Given the description of an element on the screen output the (x, y) to click on. 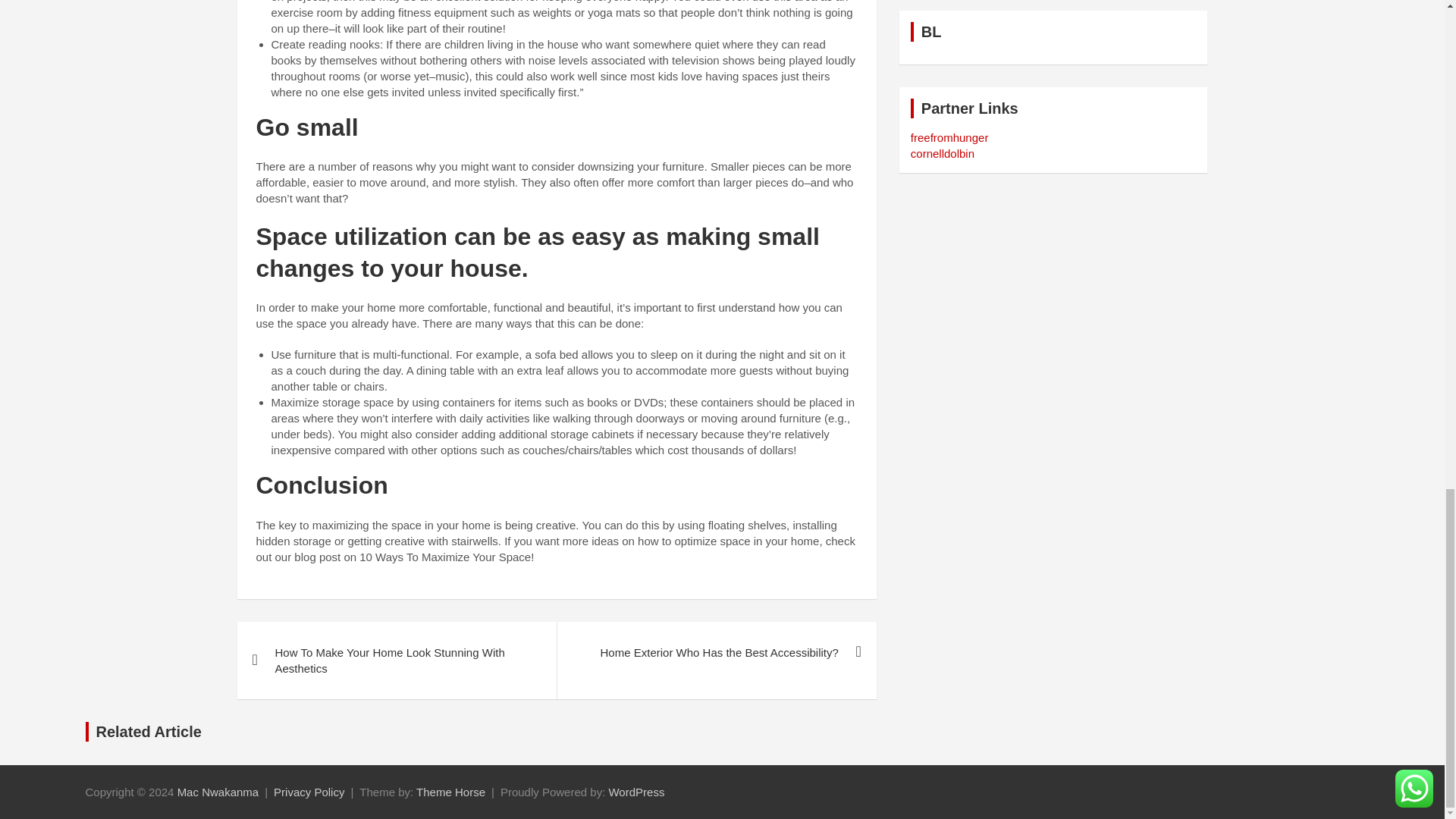
How To Make Your Home Look Stunning With Aesthetics (395, 660)
Home Exterior Who Has the Best Accessibility? (716, 652)
